Given the description of an element on the screen output the (x, y) to click on. 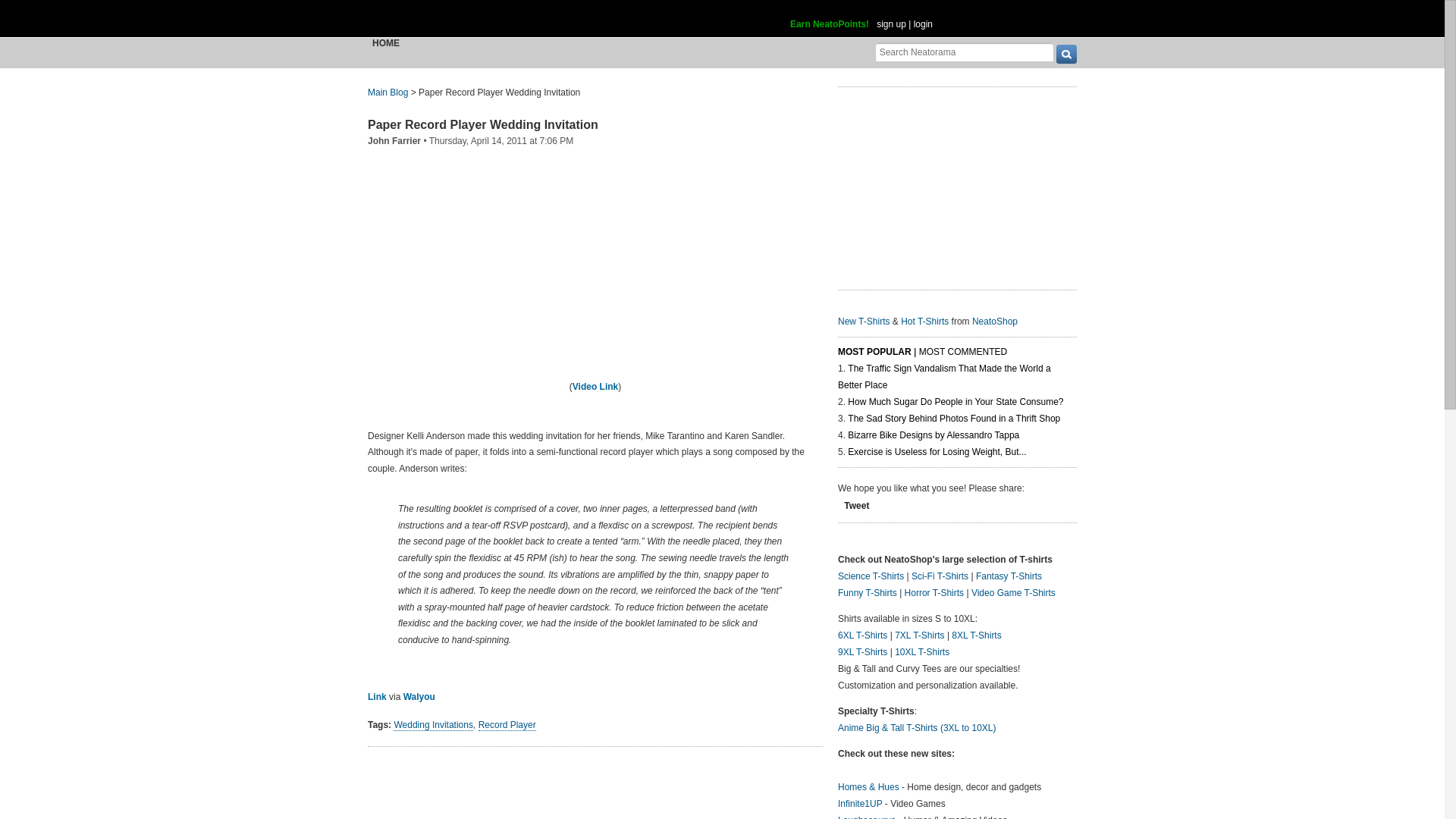
Earn NeatoPoints! (829, 24)
The Sad Story Behind Photos Found in a Thrift Shop (953, 419)
Wedding Invitations (433, 725)
Video Link (594, 387)
NeatoShop (994, 321)
How Much Sugar Do People in Your State Consume? (954, 401)
MOST POPULAR (874, 351)
Wedding Invitations (433, 725)
New T-Shirts (863, 321)
login (923, 24)
Link (377, 696)
HOME (386, 43)
sign up (890, 24)
Record Player (507, 725)
Record Player (507, 725)
